Given the description of an element on the screen output the (x, y) to click on. 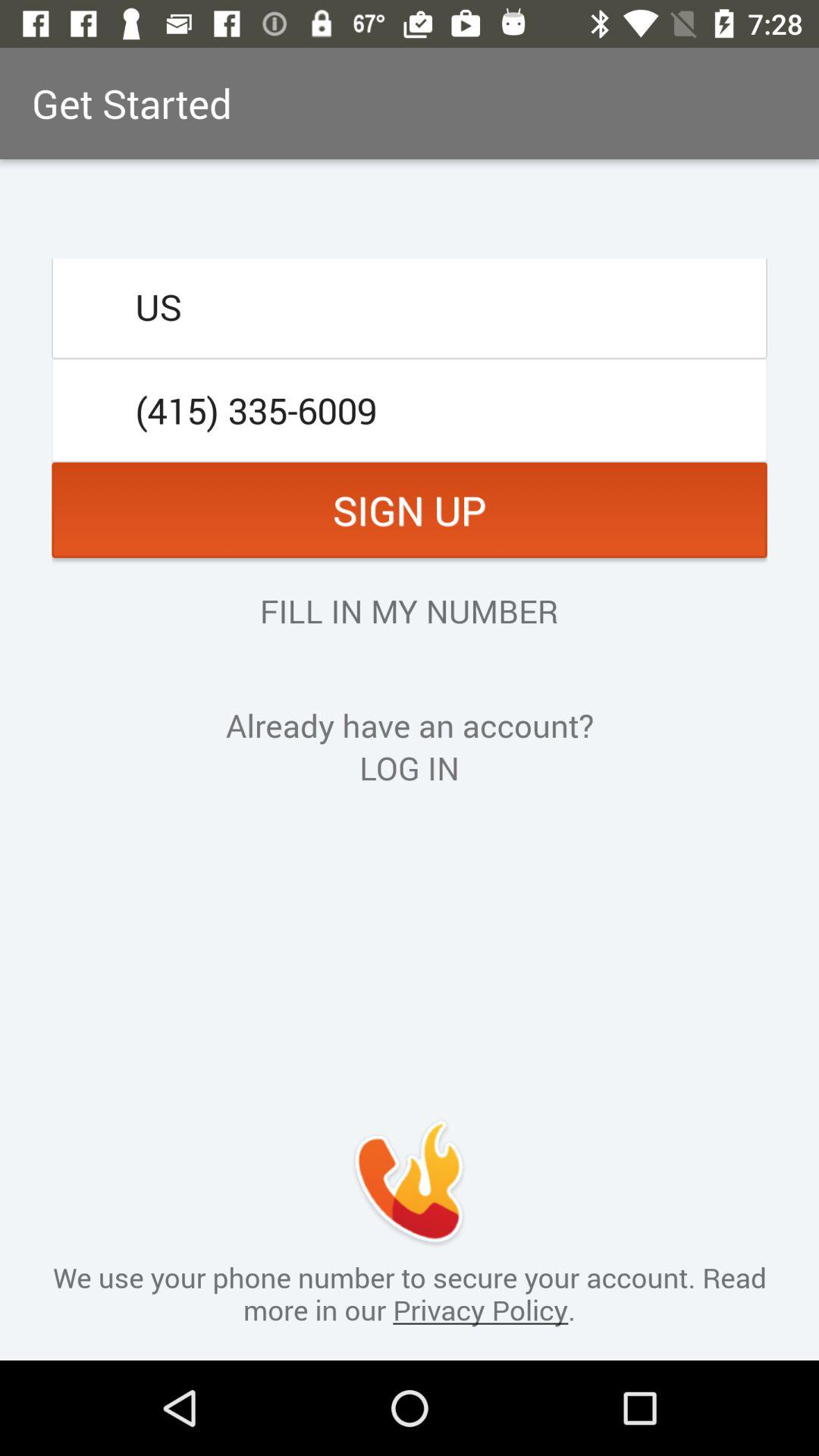
flip to us item (409, 306)
